Given the description of an element on the screen output the (x, y) to click on. 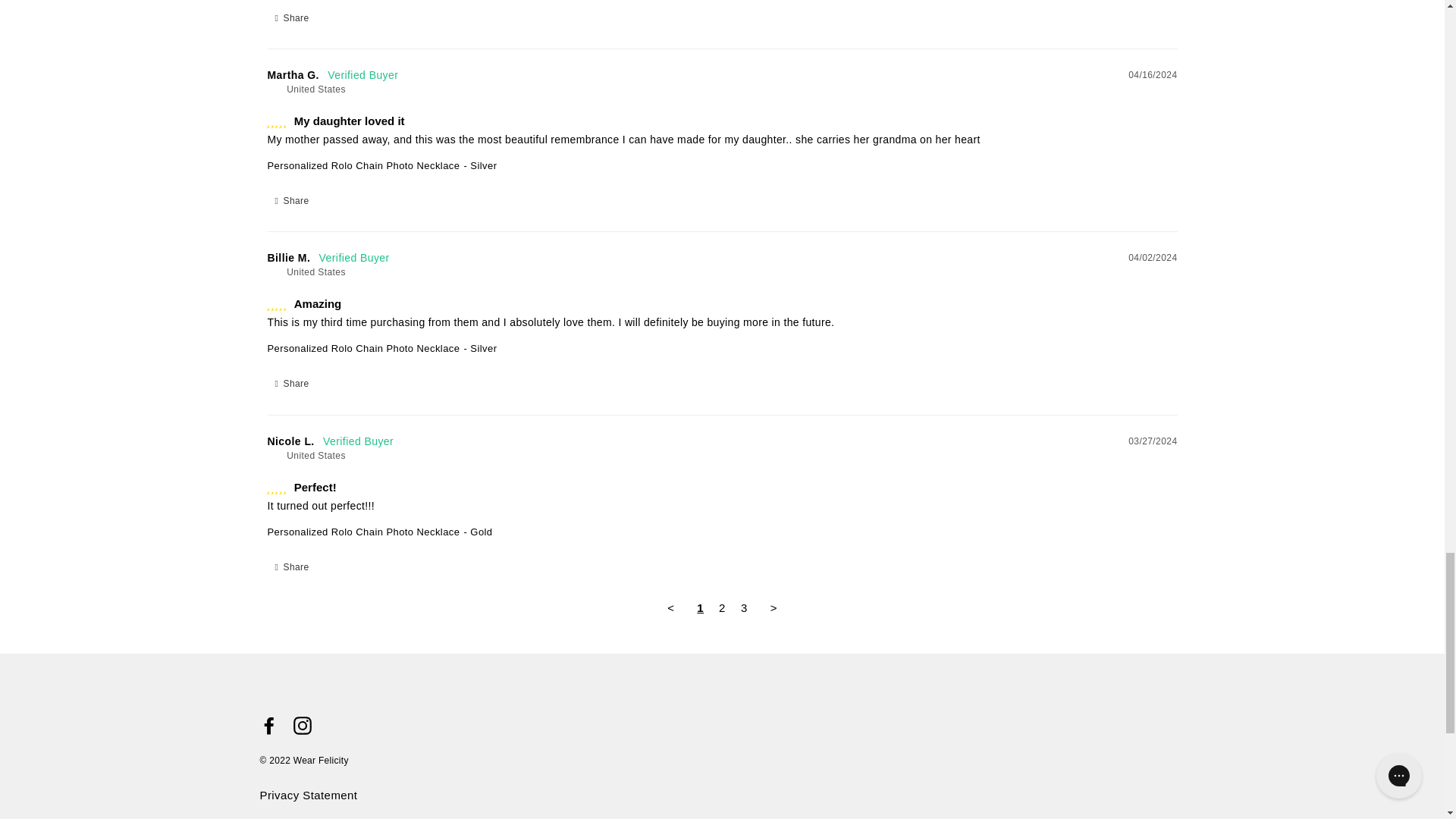
Wear Felicity on Instagram (302, 724)
